Given the description of an element on the screen output the (x, y) to click on. 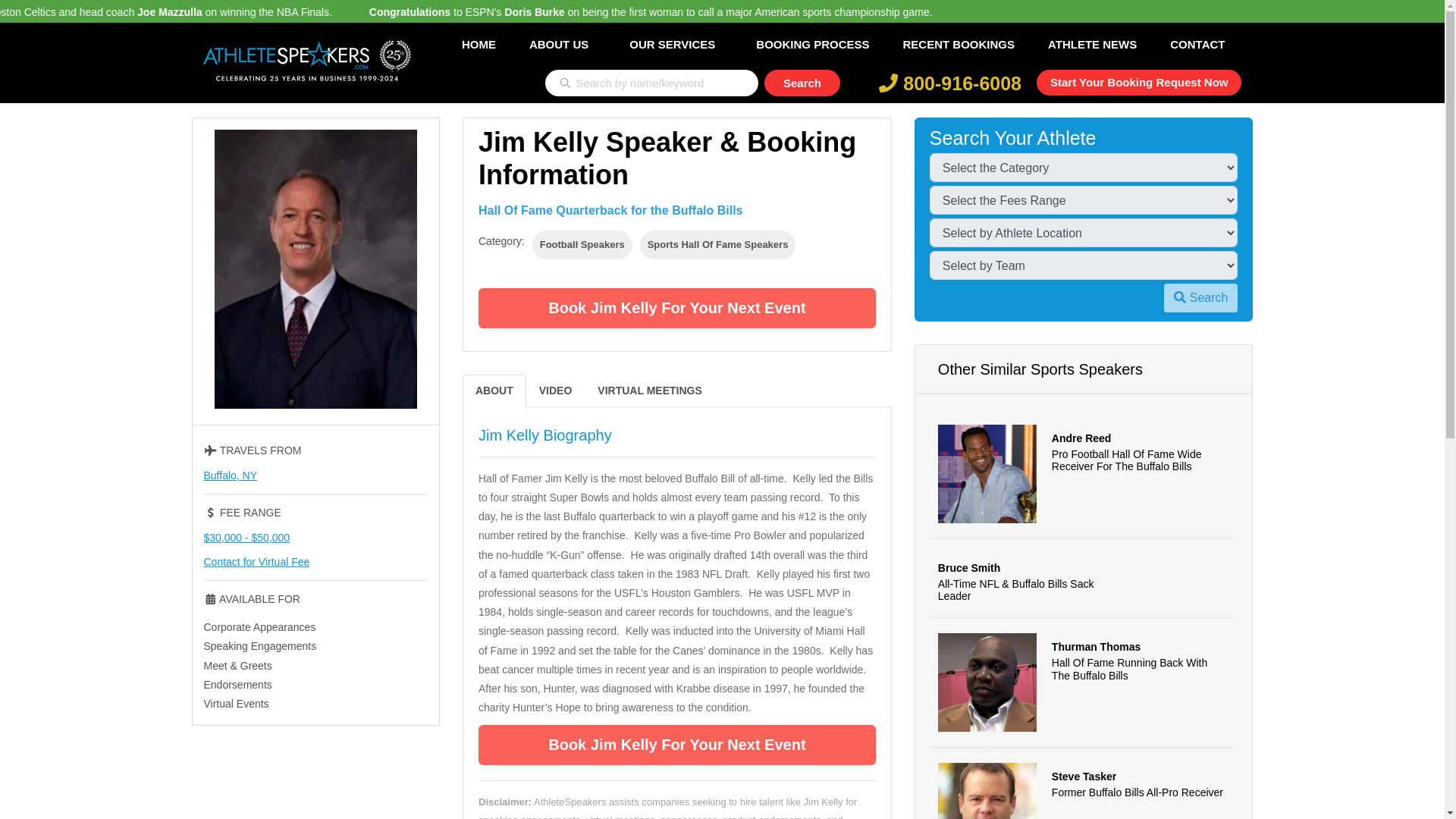
Your Location:   Home (255, 96)
Football Speakers (581, 244)
Buffalo, NY (230, 475)
Steve Tasker Former Buffalo Bills All-Pro Receiver (1083, 783)
ABOUT US (558, 44)
Start Your Booking Request Now (1138, 82)
Book Jim Kelly For Your Next Event (677, 744)
Search (1200, 297)
VIRTUAL MEETINGS (649, 390)
ABOUT (494, 390)
VIDEO (555, 390)
800-916-6008 (950, 83)
OUR SERVICES (672, 44)
